Given the description of an element on the screen output the (x, y) to click on. 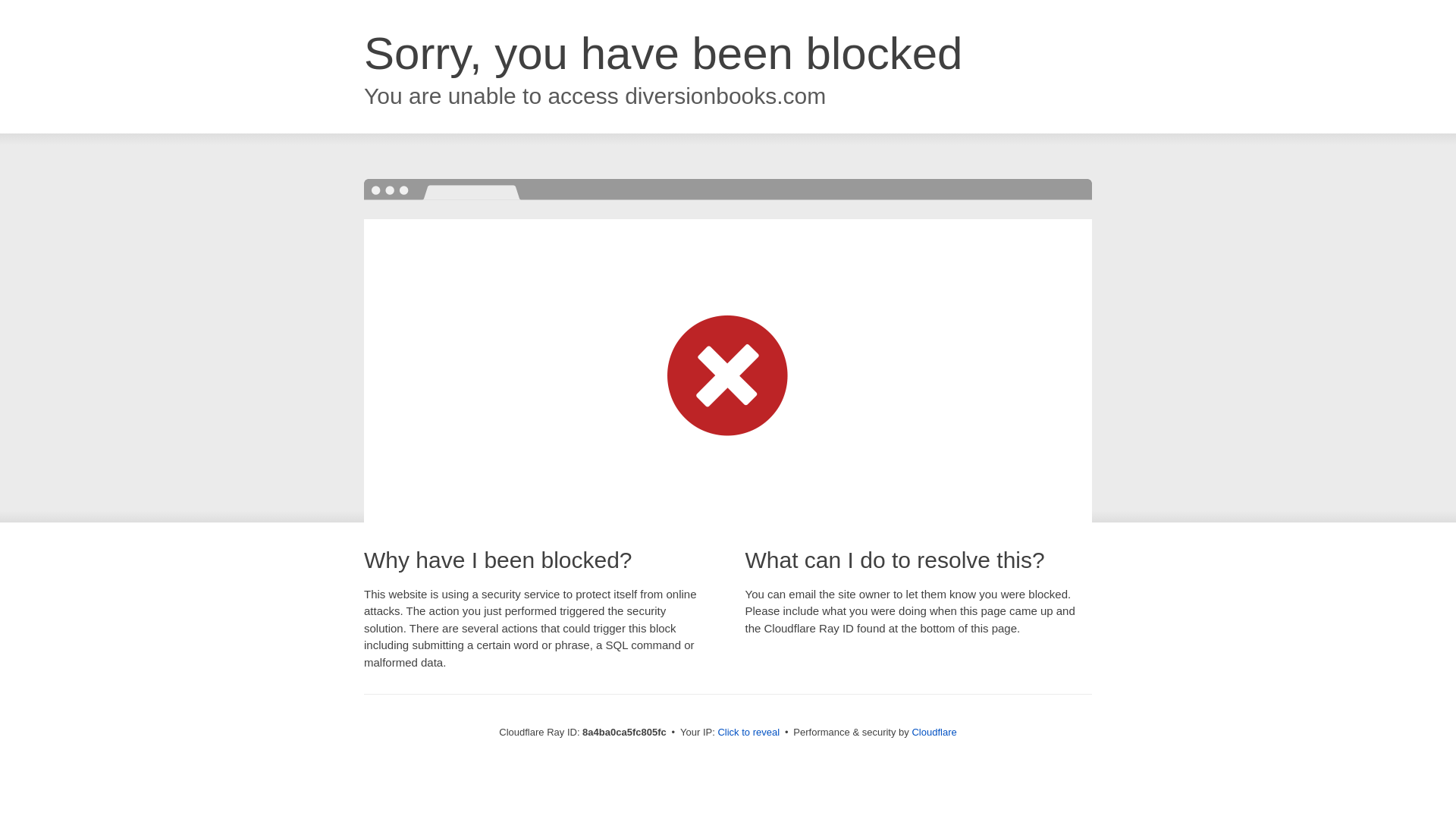
Cloudflare (933, 731)
Click to reveal (747, 732)
